Given the description of an element on the screen output the (x, y) to click on. 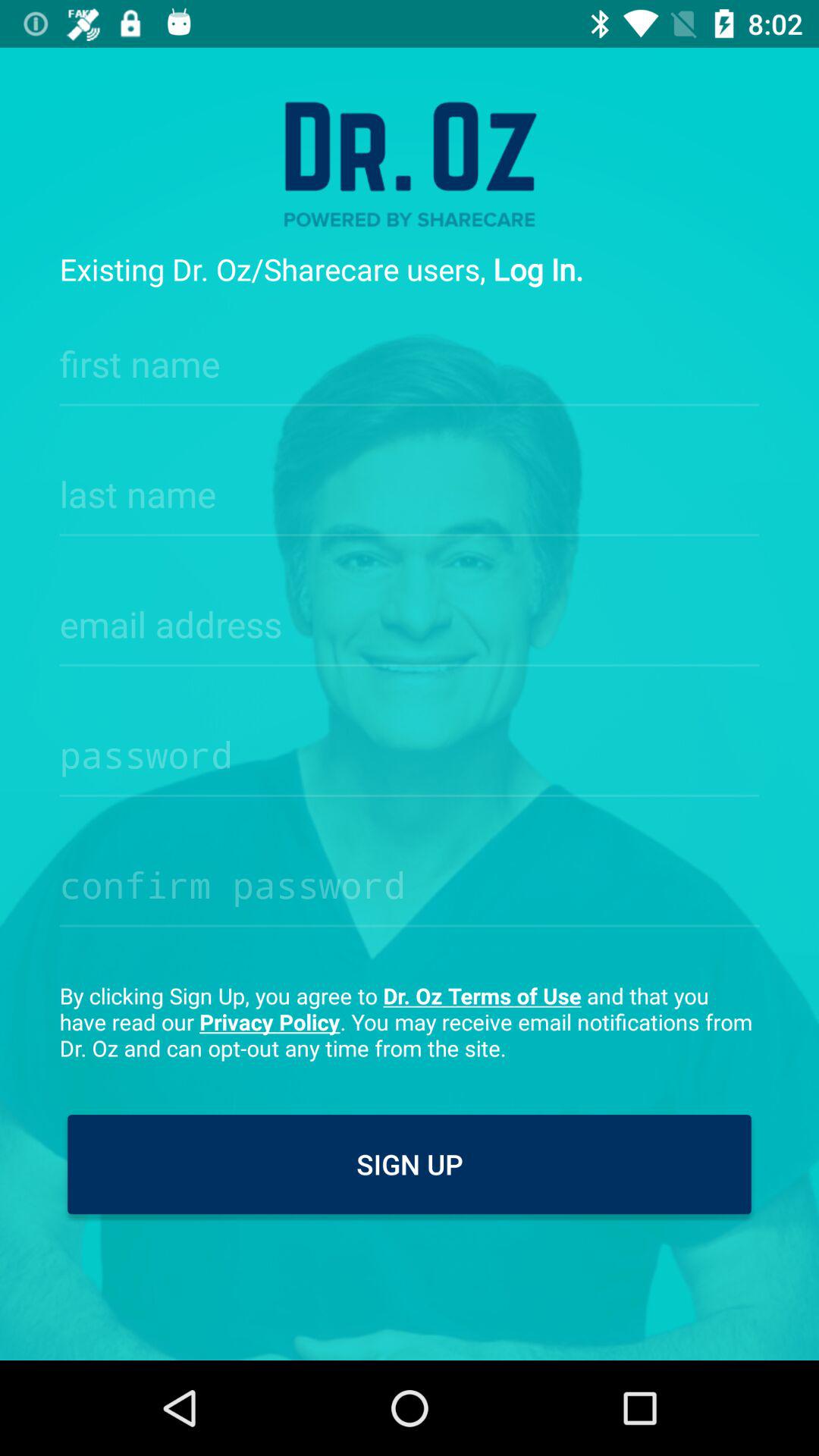
enter first name (409, 359)
